Given the description of an element on the screen output the (x, y) to click on. 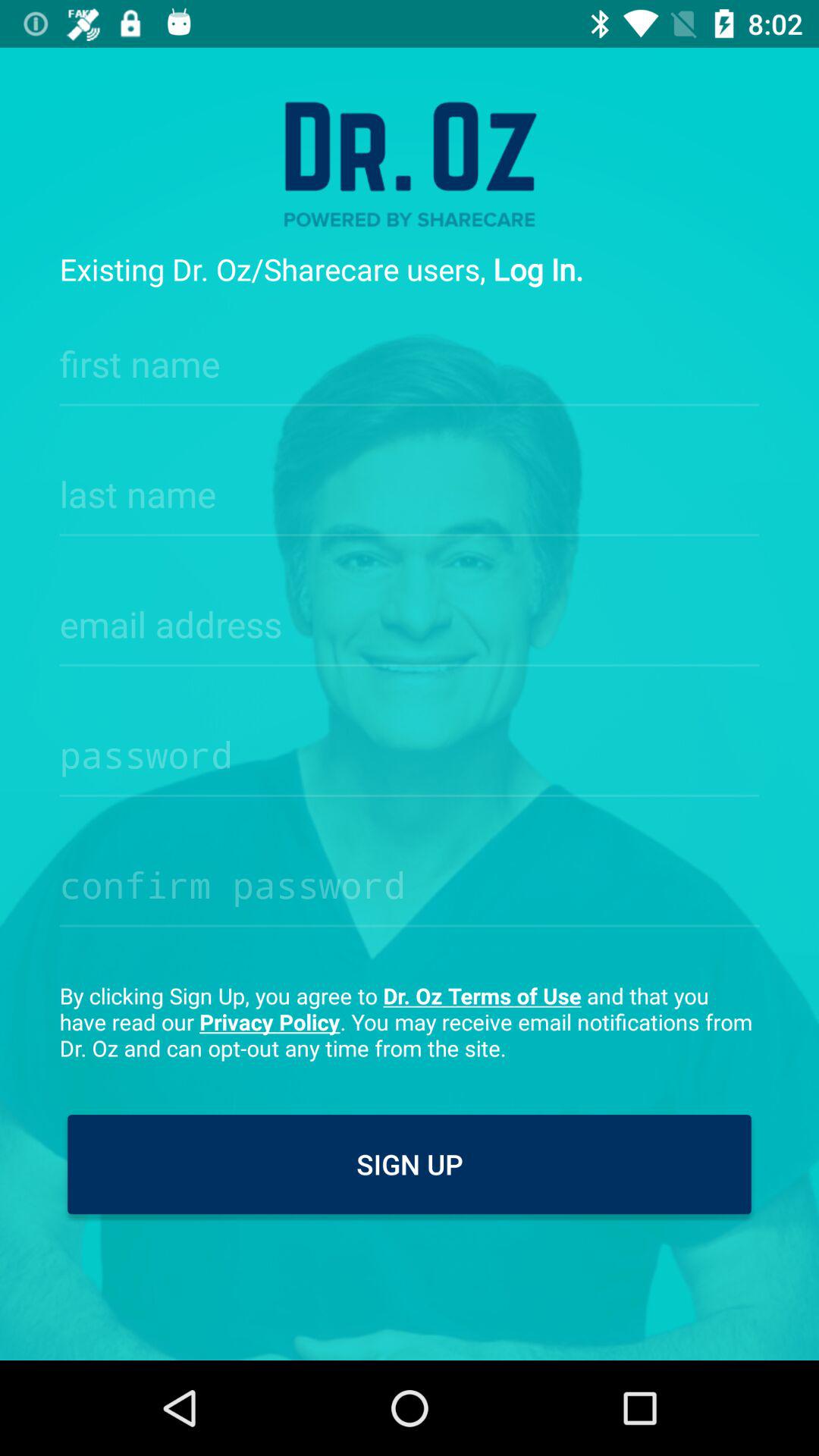
enter first name (409, 359)
